Given the description of an element on the screen output the (x, y) to click on. 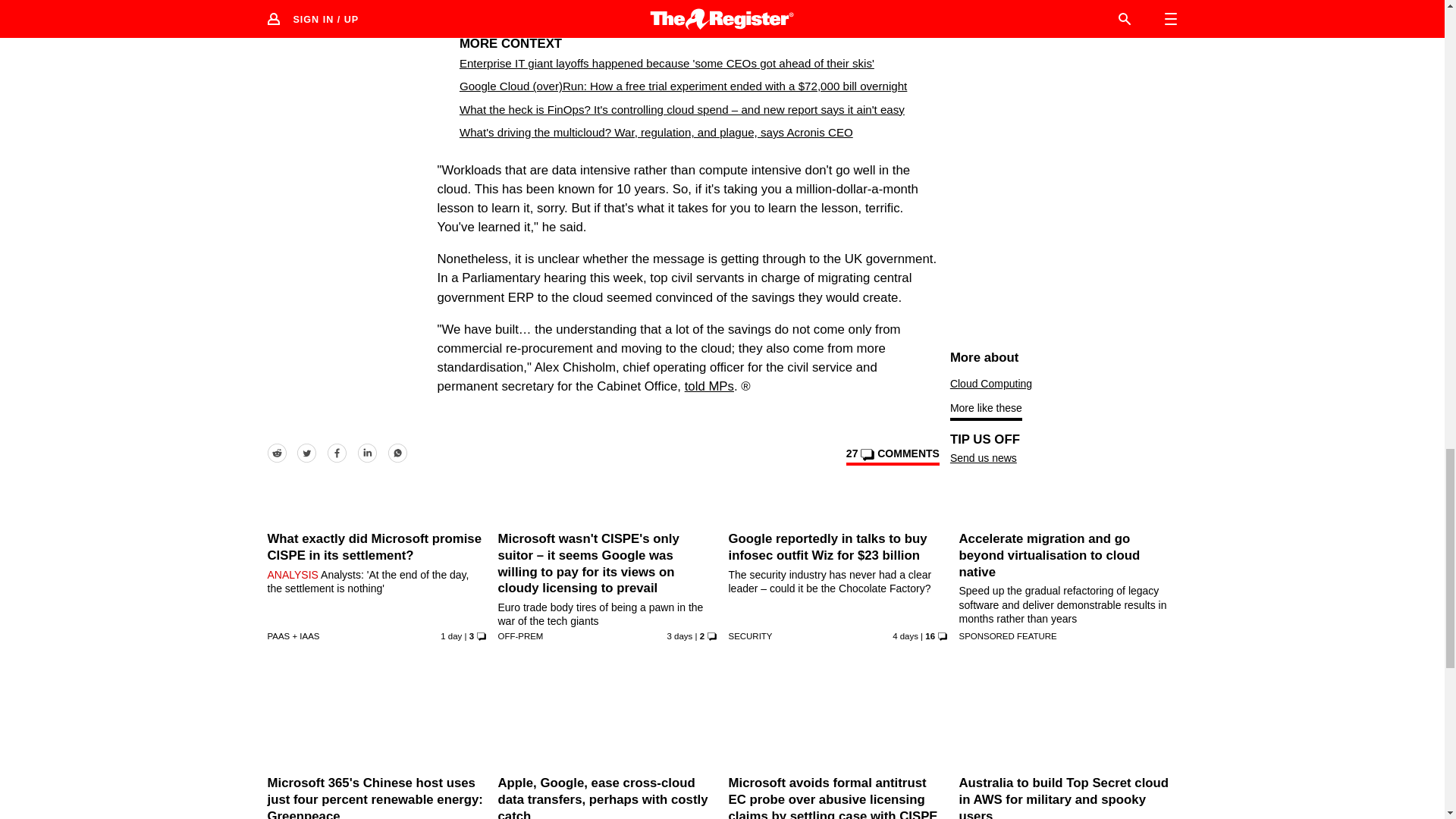
View comments on this article (892, 456)
17 Jul 2024 13:42 (451, 635)
16 Jul 2024 4:1 (679, 635)
15 Jul 2024 4:39 (905, 635)
